Given the description of an element on the screen output the (x, y) to click on. 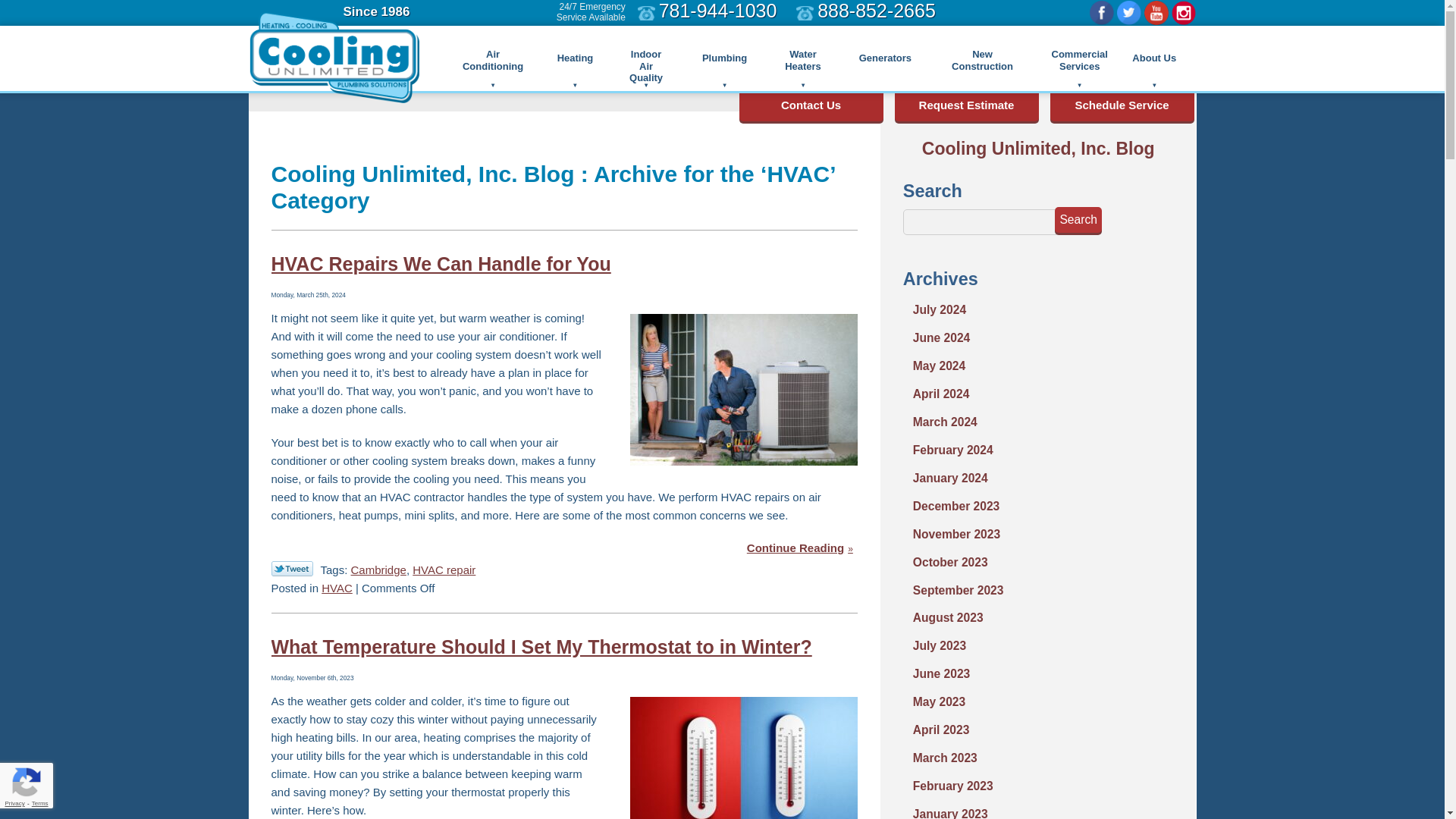
YouTube (1156, 12)
Facebook (1101, 12)
888-852-2665 (876, 10)
781-944-1030 (718, 10)
Permanent Link to HVAC Repairs We Can Handle for You (440, 263)
Air Conditioning (492, 57)
Twitter (1128, 12)
Indoor Air Quality (646, 57)
Instagram (1182, 12)
Heating (574, 57)
Permanent Link to HVAC Repairs We Can Handle for You (799, 547)
